Given the description of an element on the screen output the (x, y) to click on. 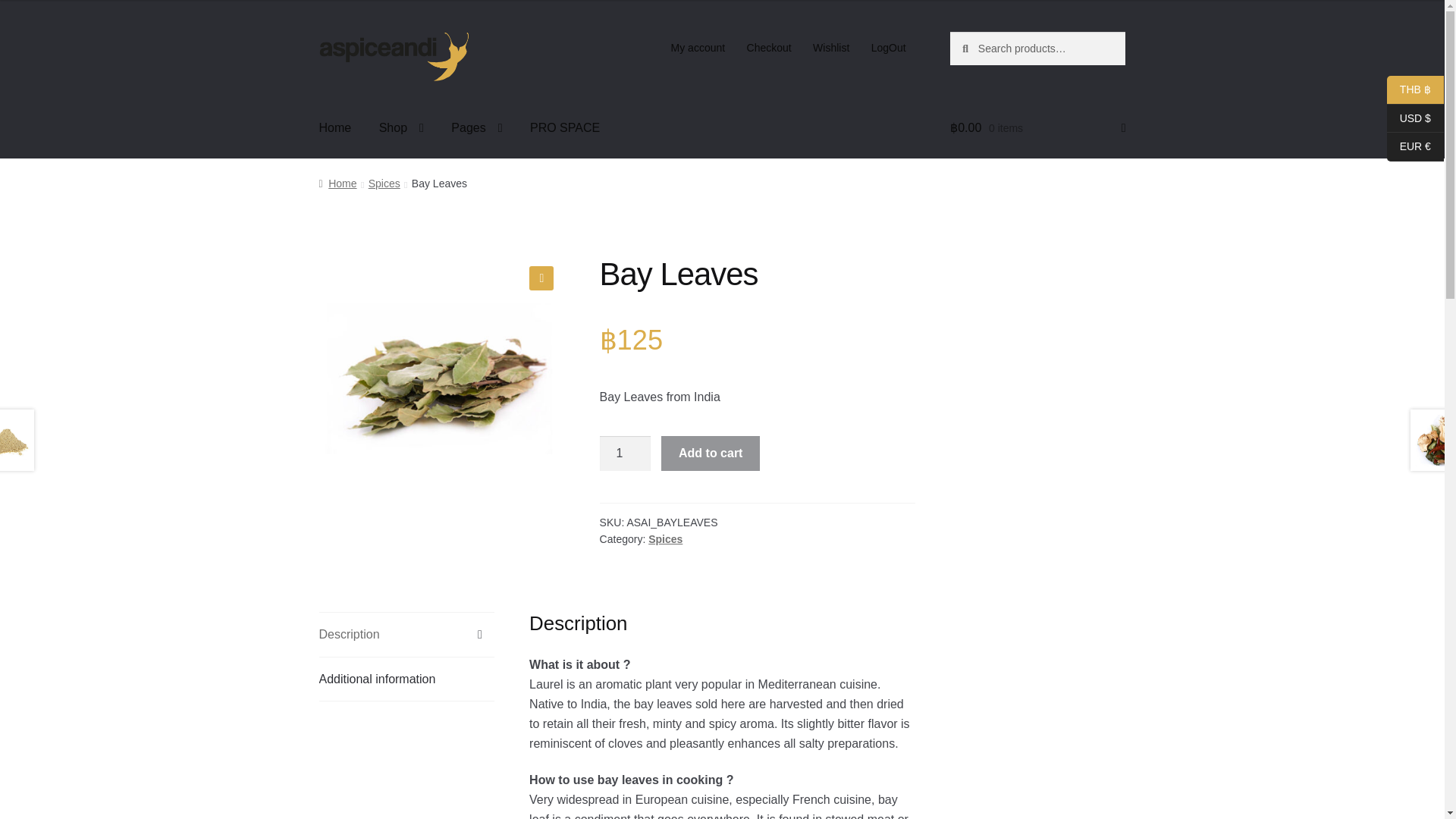
Home (335, 128)
1 (624, 452)
View your shopping cart (1037, 128)
Wishlist (831, 47)
Checkout (768, 47)
Shop (400, 128)
LogOut (887, 47)
My account (697, 47)
PRO SPACE (564, 128)
Pages (476, 128)
